Given the description of an element on the screen output the (x, y) to click on. 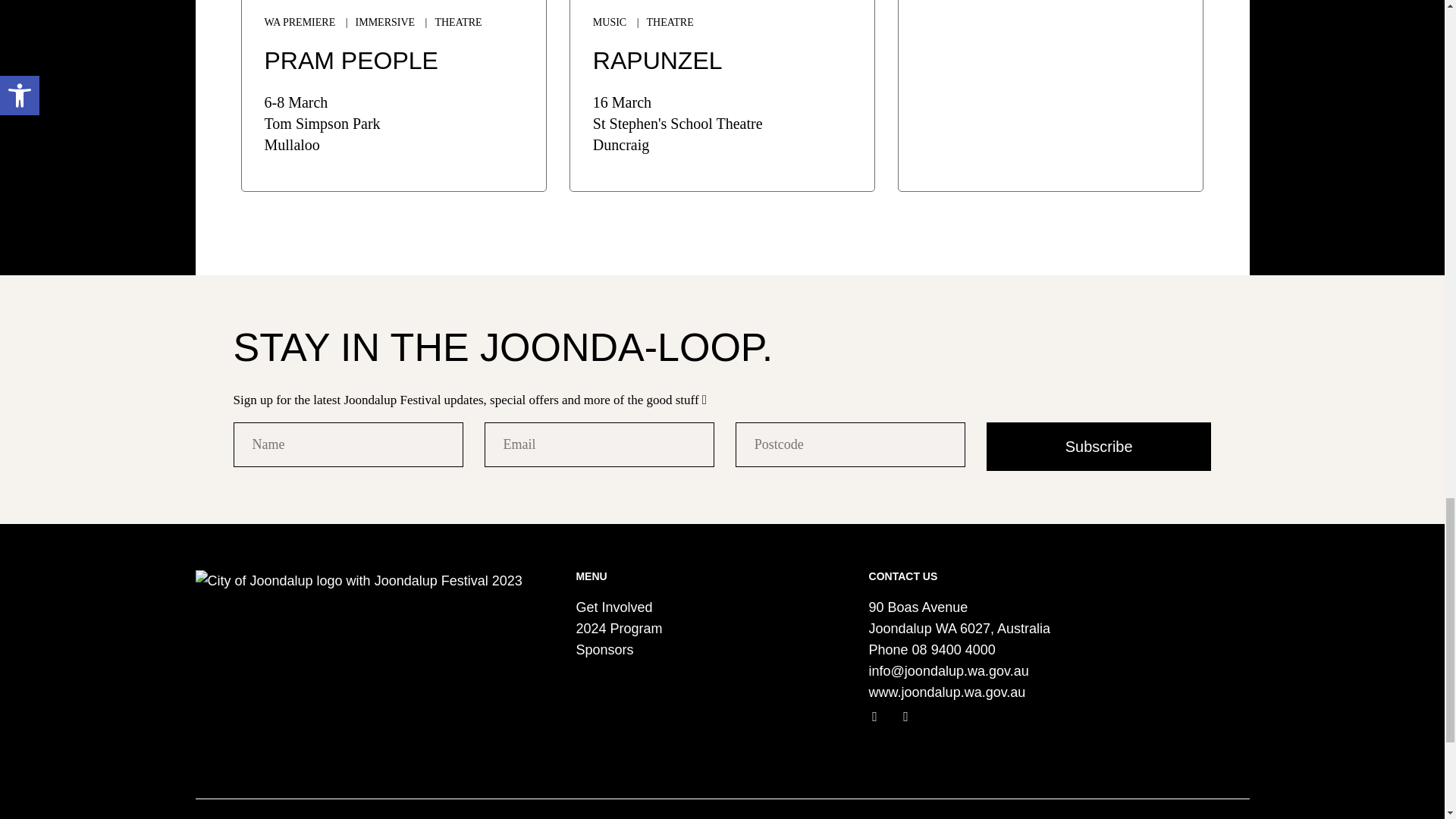
www.joondalup.wa.gov.au (947, 692)
Sponsors (604, 649)
Get Involved (613, 607)
Subscribe (1099, 446)
2024 Program (618, 628)
